Given the description of an element on the screen output the (x, y) to click on. 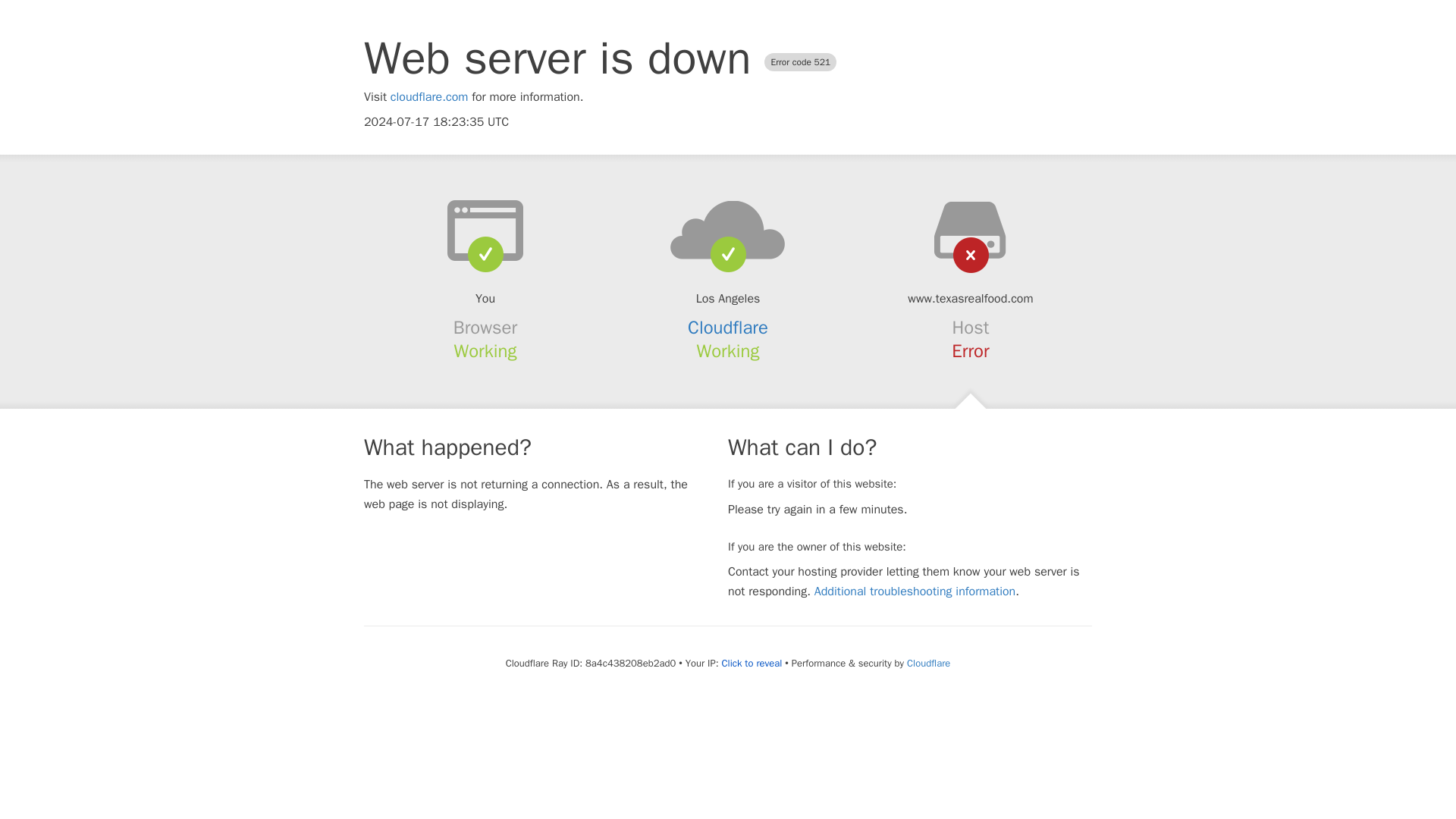
Cloudflare (928, 662)
Additional troubleshooting information (913, 590)
Click to reveal (750, 663)
Cloudflare (727, 327)
cloudflare.com (429, 96)
